Given the description of an element on the screen output the (x, y) to click on. 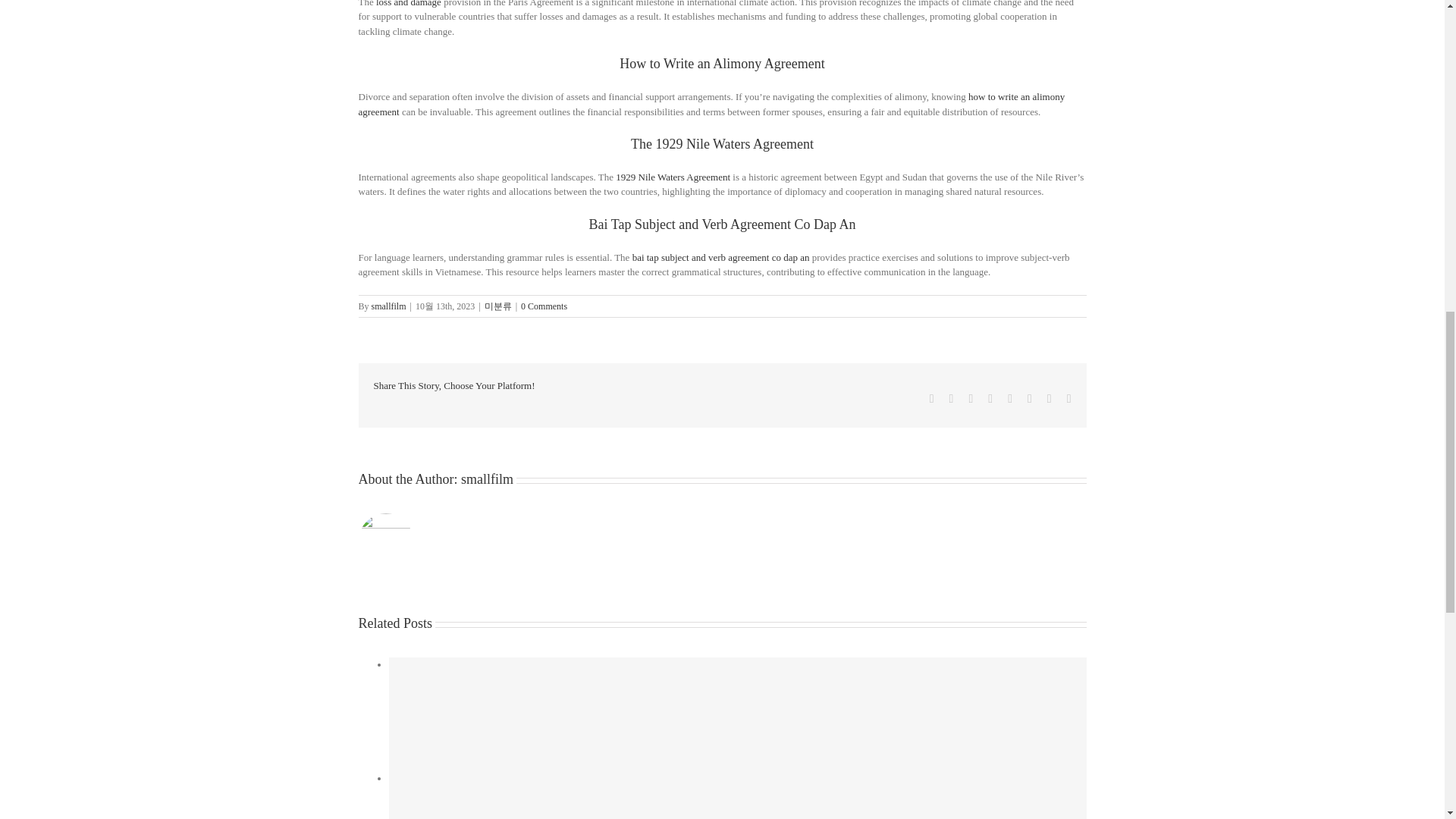
Vk (1048, 398)
smallfilm (388, 306)
Reddit (970, 398)
Facebook (932, 398)
Twitter (951, 398)
LinkedIn (990, 398)
how to write an alimony agreement (711, 103)
LinkedIn (990, 398)
Pinterest (1029, 398)
Email (1069, 398)
Tumblr (1009, 398)
Reddit (970, 398)
Tumblr (1009, 398)
loss and damage (408, 3)
1929 Nile Waters Agreement (672, 176)
